Given the description of an element on the screen output the (x, y) to click on. 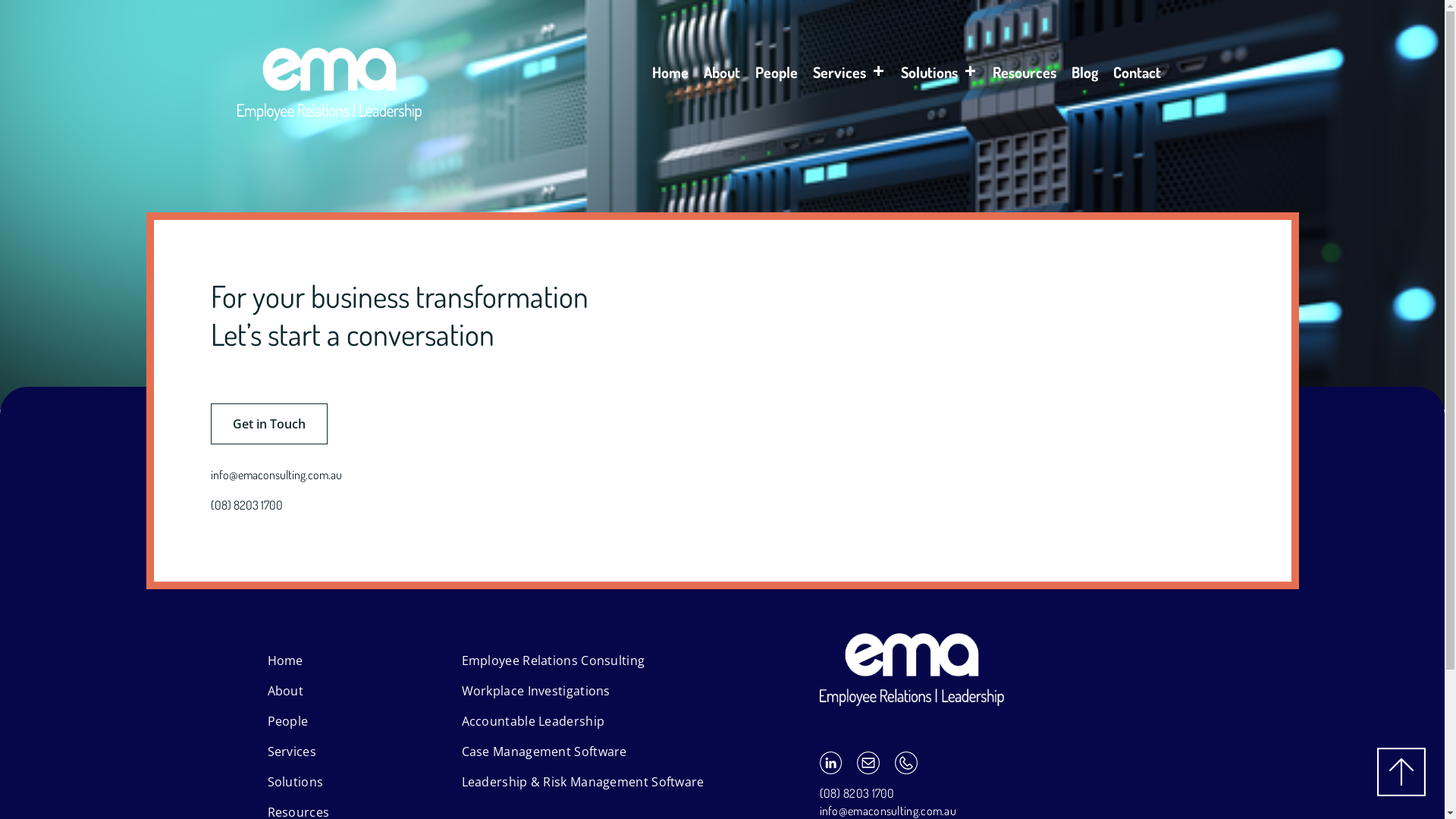
Accountable Leadership Element type: text (532, 720)
info@emaconsulting.com.au Element type: text (286, 474)
People Element type: text (776, 77)
Home Element type: text (284, 660)
About Element type: text (284, 690)
About Element type: text (721, 77)
People Element type: text (286, 720)
Blog Element type: text (1084, 77)
info@emaconsulting.com.au Element type: text (887, 810)
Resources Element type: text (1024, 77)
Workplace Investigations Element type: text (535, 690)
(08) 8203 1700 Element type: text (257, 505)
Case Management Software Element type: text (543, 751)
Employee Relations Consulting Element type: text (552, 660)
Services Element type: text (849, 77)
Home Element type: text (670, 77)
Solutions Element type: text (294, 781)
Get in Touch Element type: text (268, 423)
Services Element type: text (290, 751)
Solutions Element type: text (939, 77)
Leadership & Risk Management Software Element type: text (582, 781)
Contact Element type: text (1136, 77)
